Given the description of an element on the screen output the (x, y) to click on. 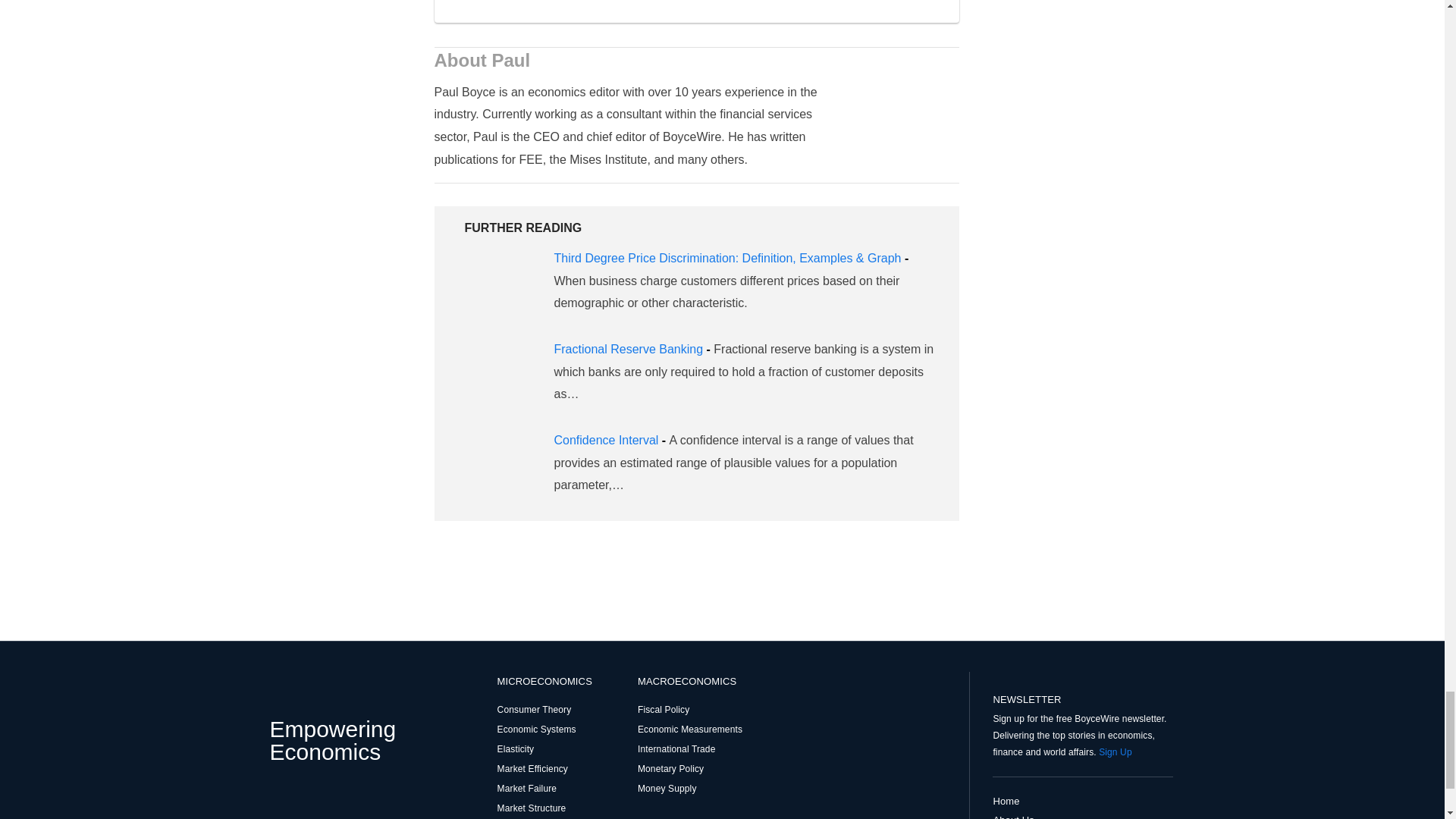
linkedin (352, 800)
twitter (328, 800)
instagram (304, 800)
newsletter (1082, 681)
facebook (279, 800)
boycewire (286, 690)
